Given the description of an element on the screen output the (x, y) to click on. 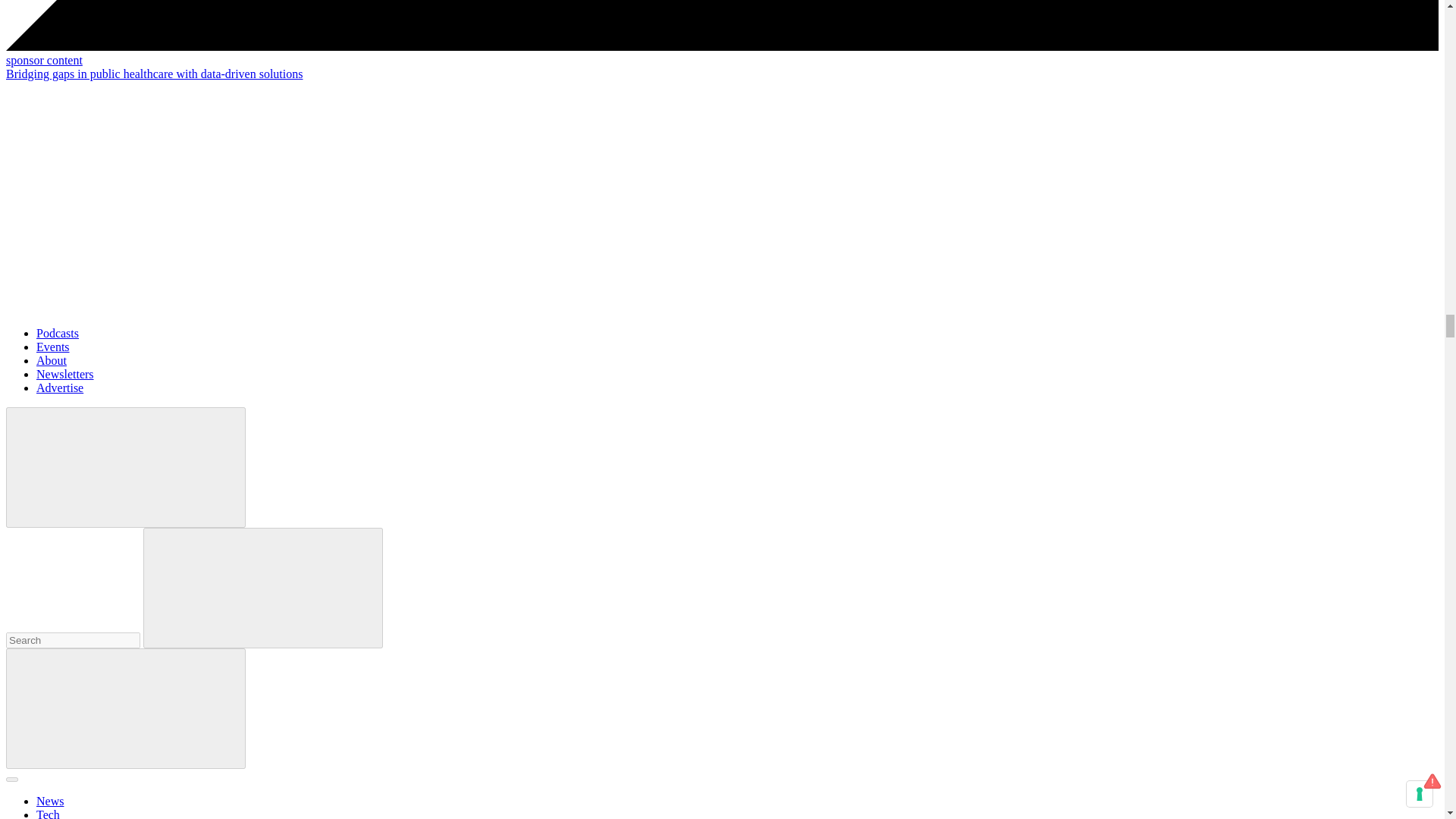
Newsletters (65, 373)
News (50, 800)
Advertise (59, 387)
About (51, 359)
Tech (47, 813)
Podcasts (57, 332)
Events (52, 346)
